Given the description of an element on the screen output the (x, y) to click on. 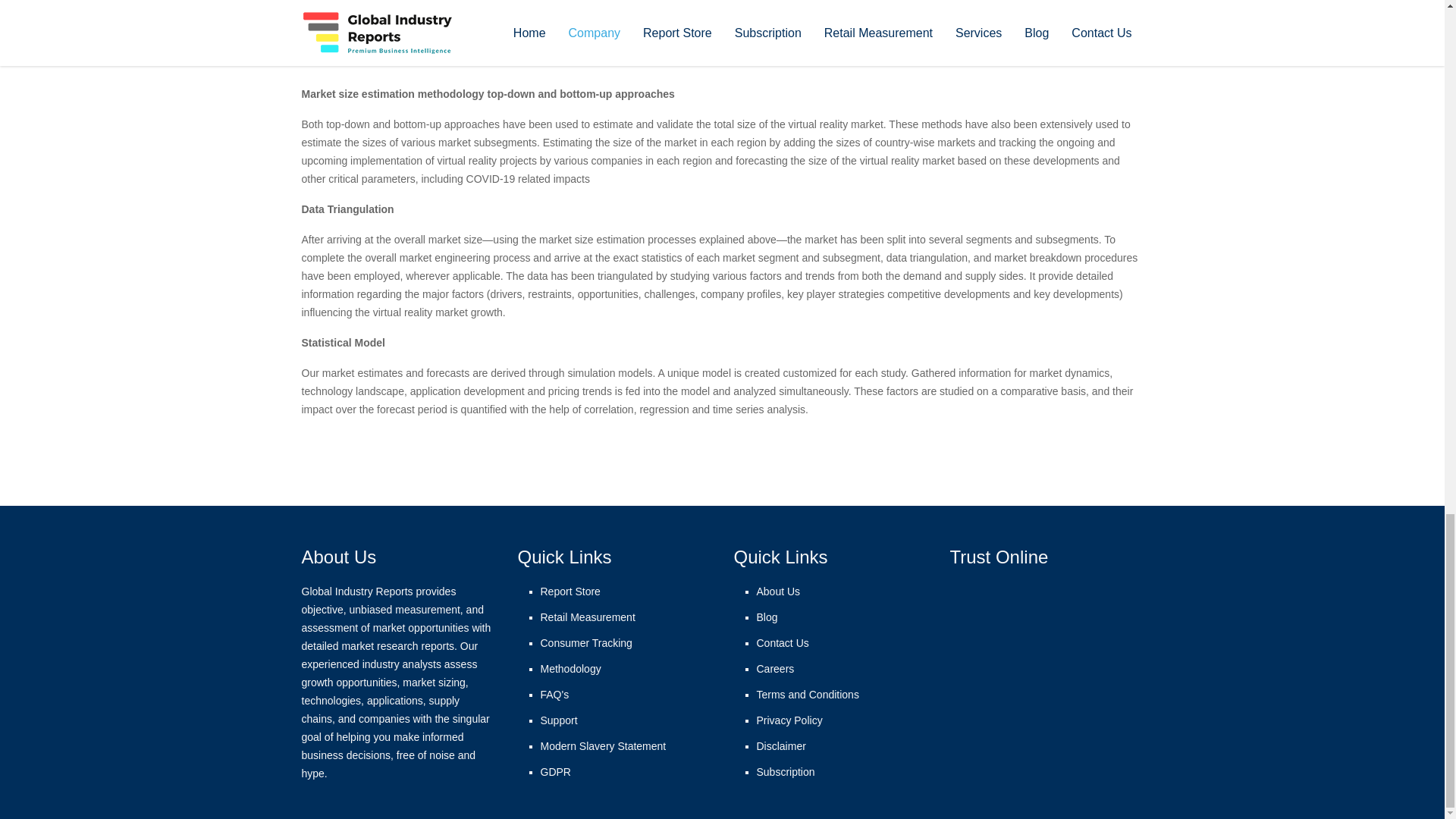
Consumer Tracking (585, 643)
FAQ's (554, 694)
GDPR (555, 771)
Methodology (569, 668)
Privacy Policy (789, 720)
Retail Measurement (587, 616)
Terms and Conditions (808, 694)
Report Store (569, 591)
Blog (767, 616)
Support (558, 720)
